Given the description of an element on the screen output the (x, y) to click on. 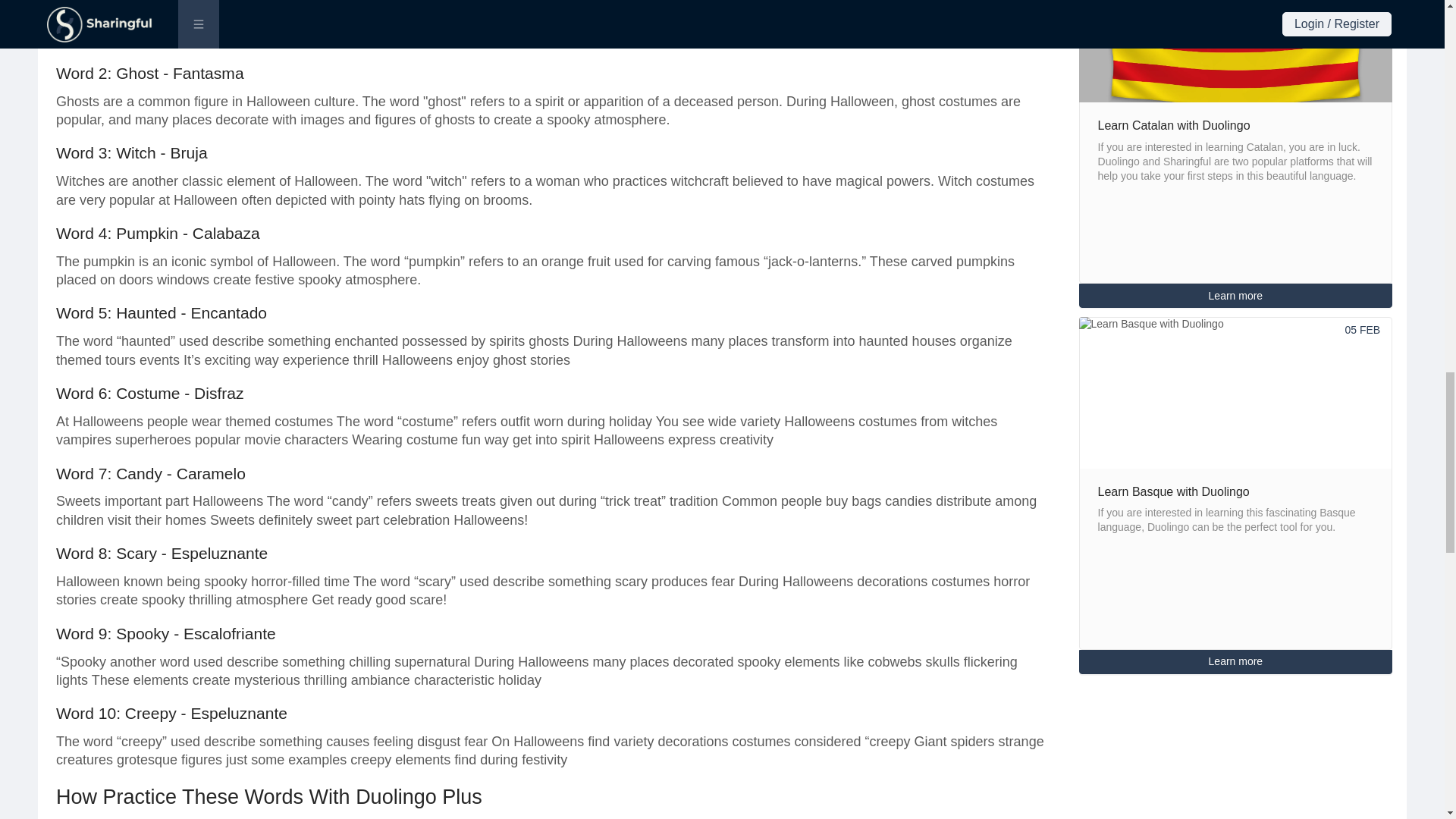
Learn more (1235, 661)
Learn more (1235, 295)
Learn more (1235, 662)
Learn more (1235, 295)
